Given the description of an element on the screen output the (x, y) to click on. 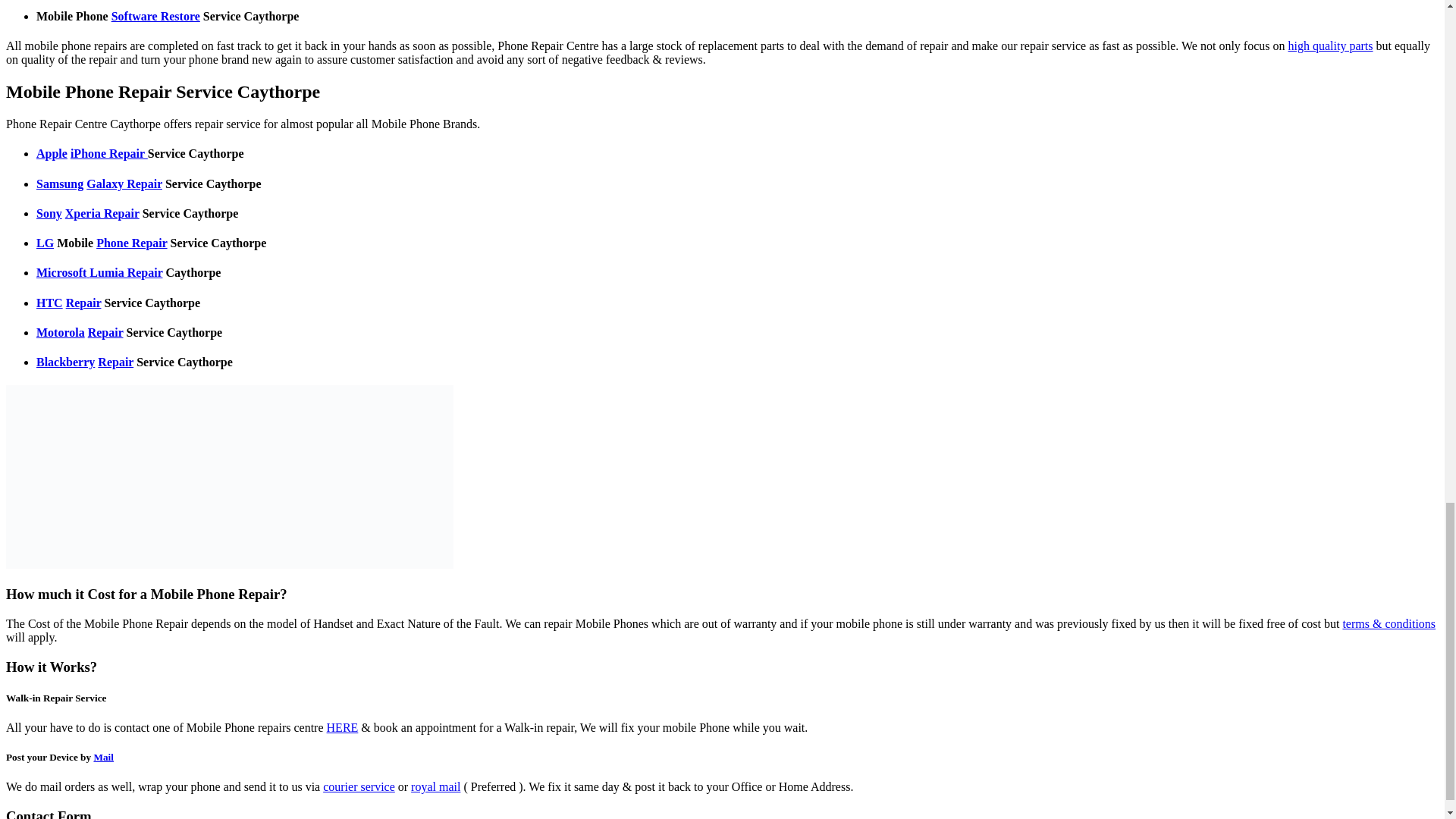
Galaxy Repair (123, 183)
Sony (49, 213)
Software Restore (156, 15)
iPhone Repair (108, 153)
high quality parts (1330, 45)
LG (44, 242)
Xperia Repair (102, 213)
Samsung (59, 183)
Apple (51, 153)
